Given the description of an element on the screen output the (x, y) to click on. 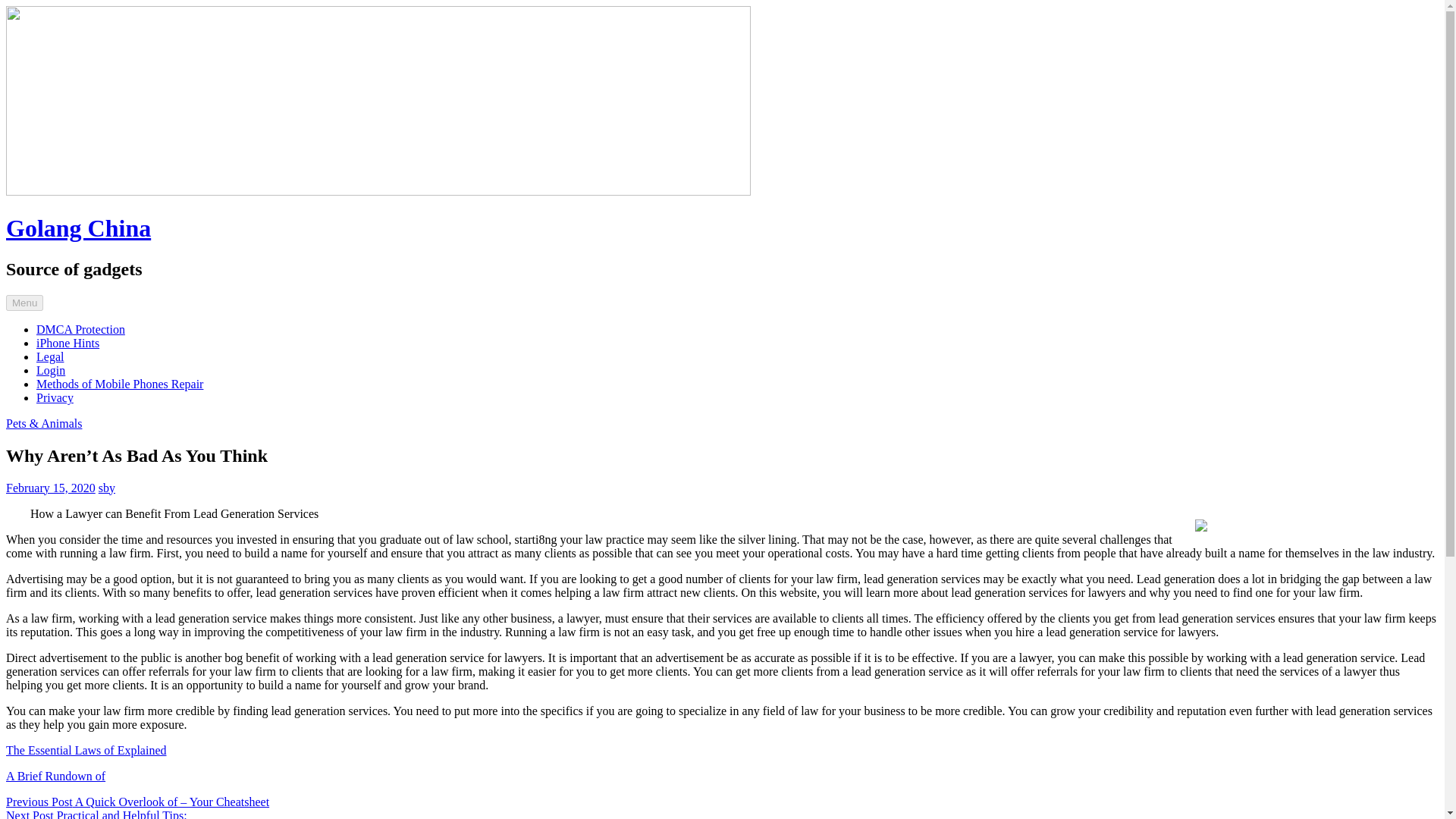
Privacy (55, 397)
Login (50, 369)
Legal (50, 356)
Golang China (78, 227)
Next Post Practical and Helpful Tips: (96, 814)
Methods of Mobile Phones Repair (119, 383)
Menu (24, 302)
DMCA Protection (80, 328)
iPhone Hints (67, 342)
A Brief Rundown of (54, 775)
February 15, 2020 (50, 487)
The Essential Laws of Explained (86, 749)
sby (107, 487)
